Given the description of an element on the screen output the (x, y) to click on. 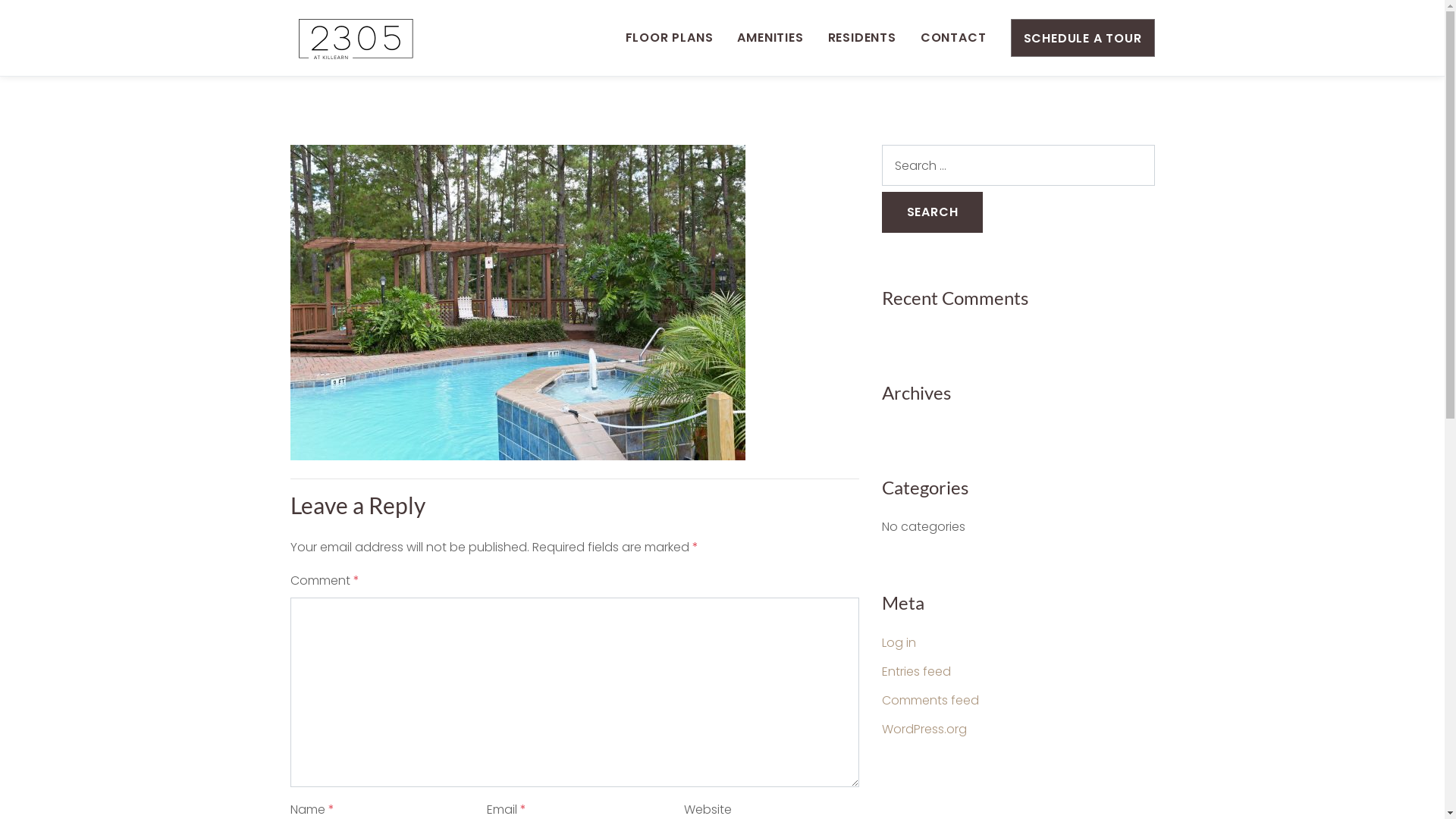
Log in Element type: text (898, 642)
AMENITIES Element type: text (770, 37)
RESIDENTS Element type: text (862, 37)
Comments feed Element type: text (929, 700)
CONTACT Element type: text (953, 37)
SCHEDULE A TOUR Element type: text (1082, 37)
FLOOR PLANS Element type: text (669, 37)
Search Element type: text (931, 211)
WordPress.org Element type: text (923, 728)
Entries feed Element type: text (915, 671)
